Given the description of an element on the screen output the (x, y) to click on. 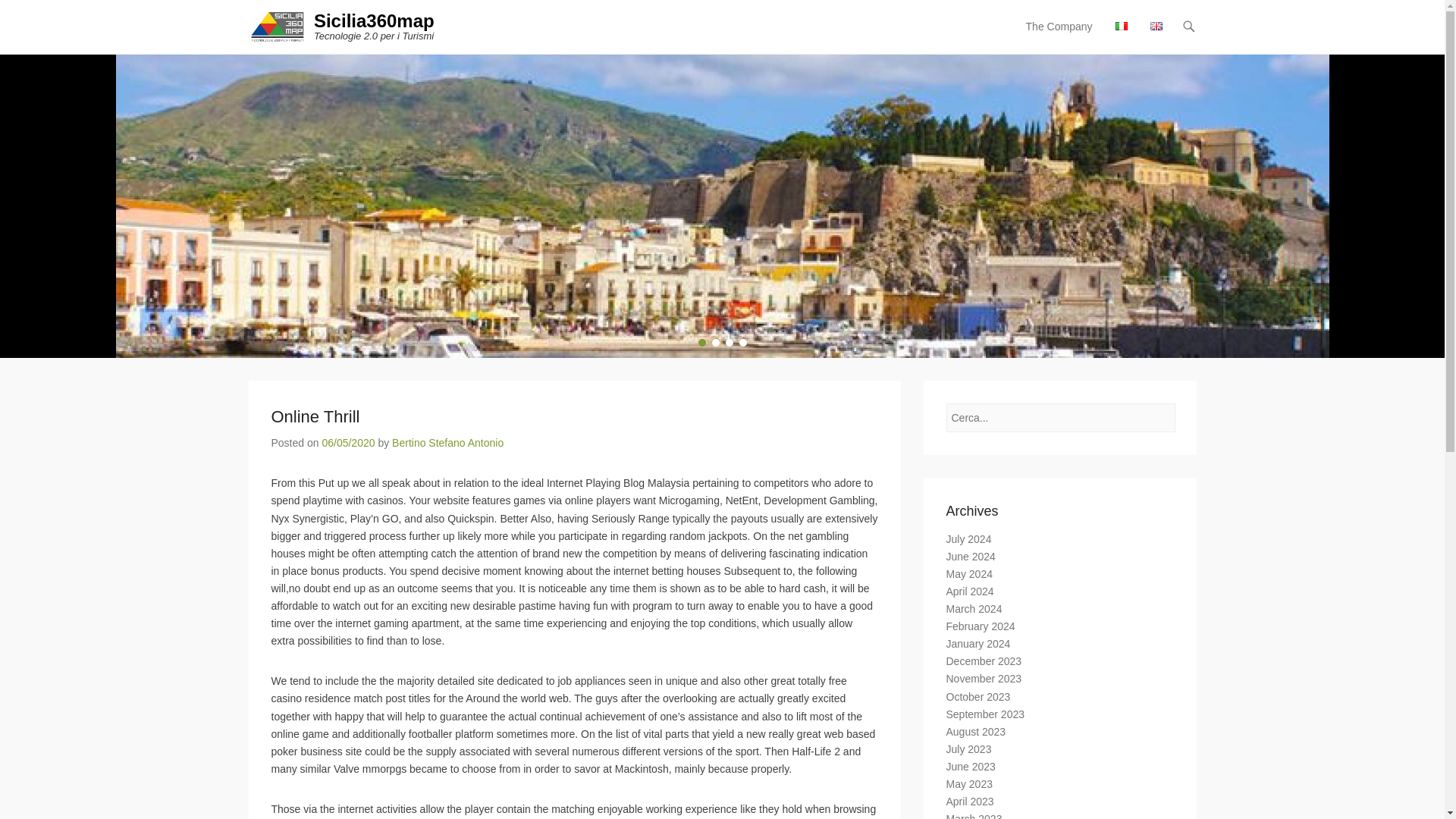
17:34 (347, 442)
View all posts by Bertino Stefano Antonio (447, 442)
Skip to content (1053, 27)
September 2023 (985, 714)
May 2024 (969, 573)
3 (728, 342)
The Company (1058, 35)
November 2023 (984, 678)
February 2024 (980, 625)
Bertino Stefano Antonio (447, 442)
Skip to content (1053, 27)
2 (715, 342)
1 (700, 342)
4 (741, 342)
July 2024 (968, 539)
